Given the description of an element on the screen output the (x, y) to click on. 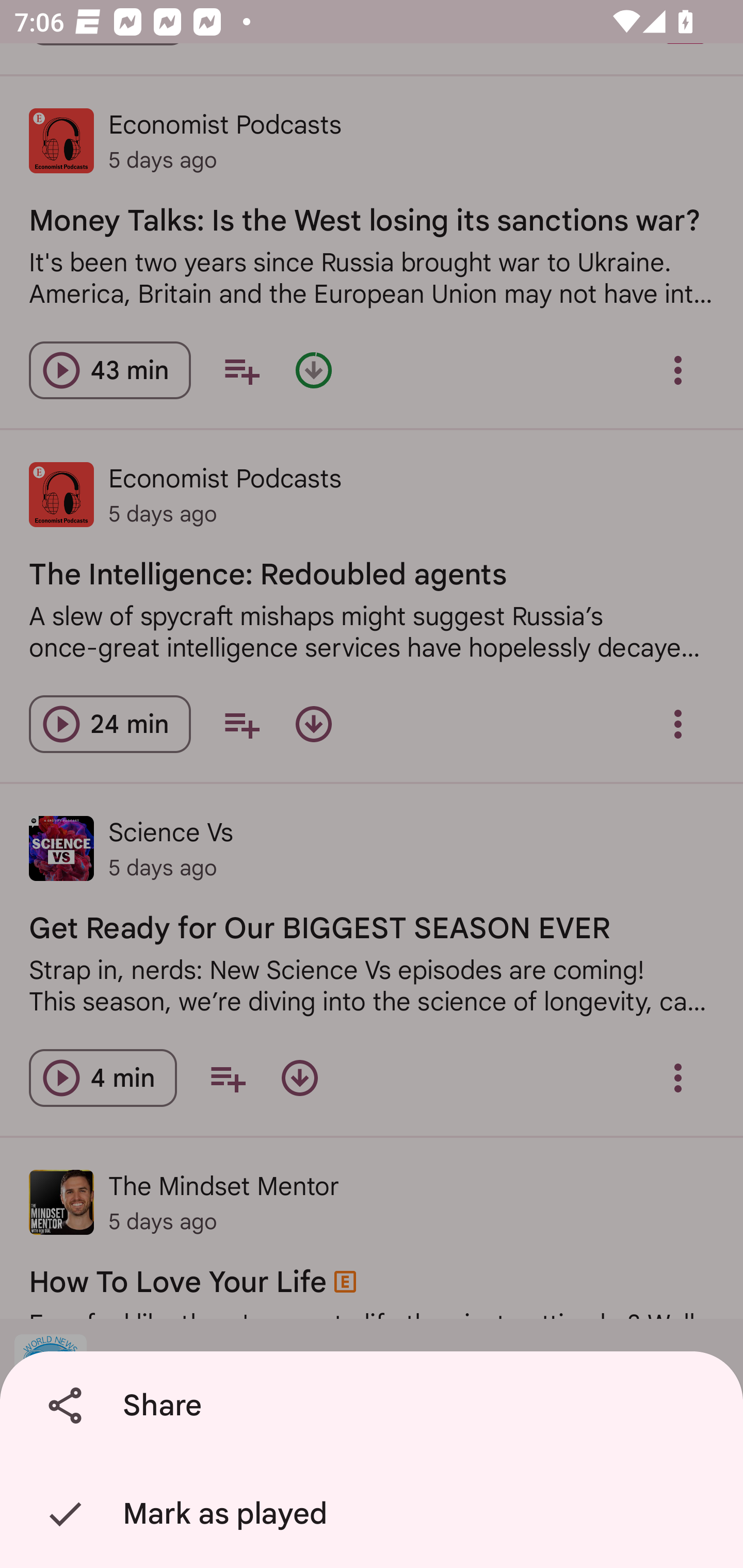
Share (375, 1405)
Mark as played (375, 1513)
